Given the description of an element on the screen output the (x, y) to click on. 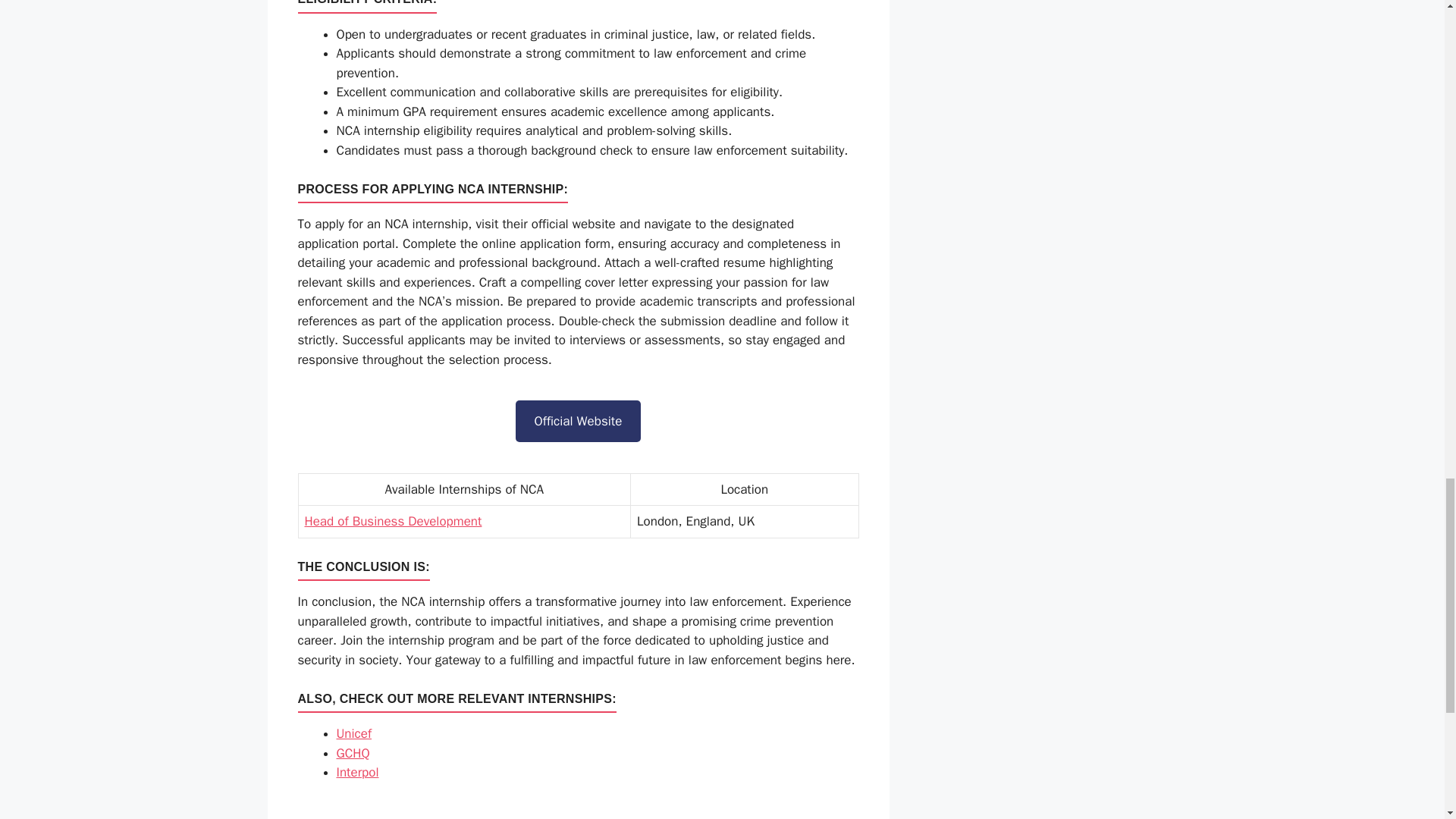
NCA Internship Portal (578, 421)
Head of Business Development (392, 521)
Interpol (357, 772)
Unicef (354, 733)
Official Website (578, 421)
GCHQ (352, 753)
